Given the description of an element on the screen output the (x, y) to click on. 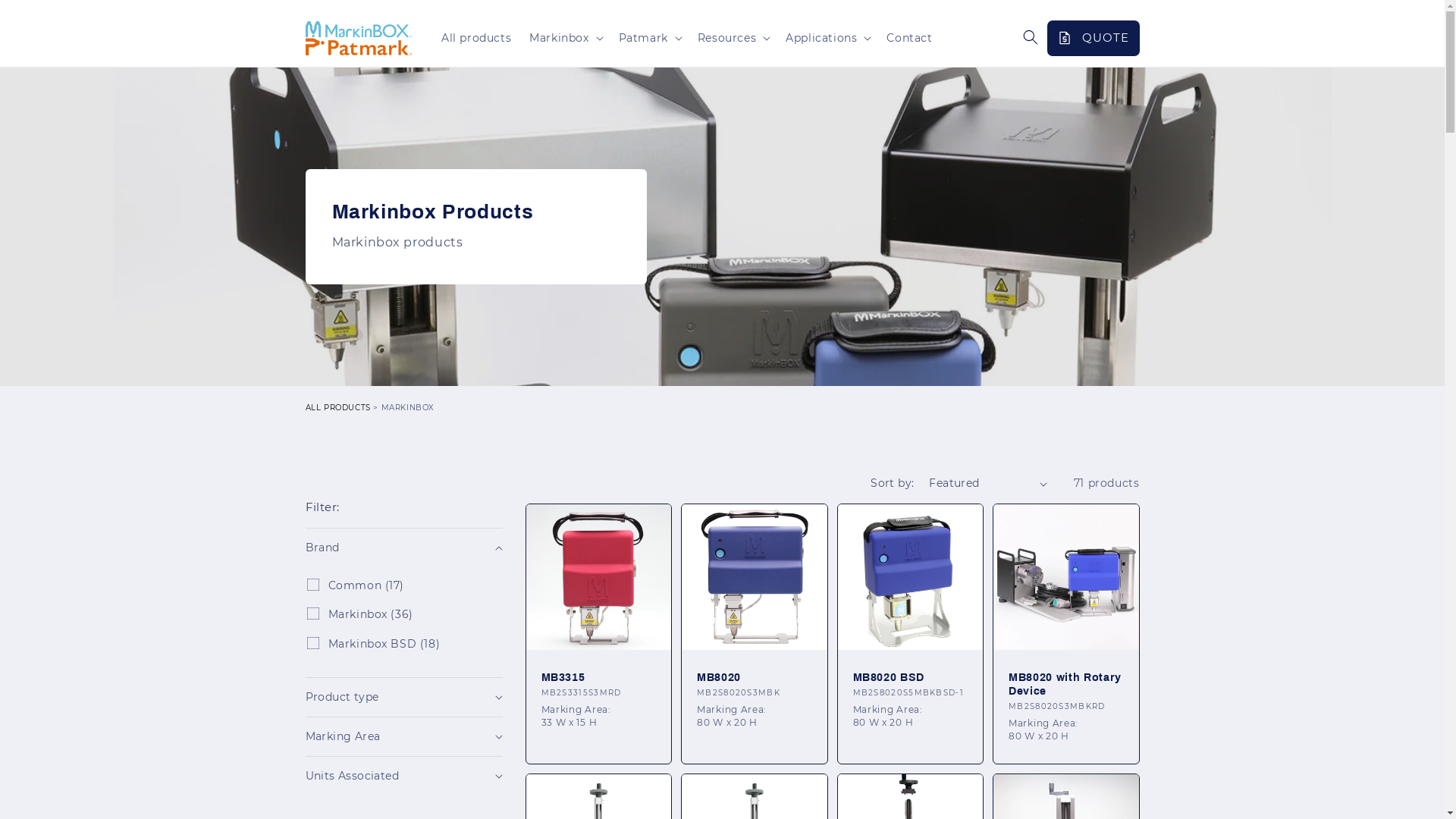
MB3315 Element type: text (598, 677)
MB8020 BSD Element type: text (909, 677)
Contact Element type: text (909, 37)
ALL PRODUCTS Element type: text (337, 407)
MB8020 Element type: text (754, 677)
MB8020 with Rotary Device Element type: text (1065, 683)
QUOTE Element type: text (1092, 38)
All products Element type: text (476, 37)
